Given the description of an element on the screen output the (x, y) to click on. 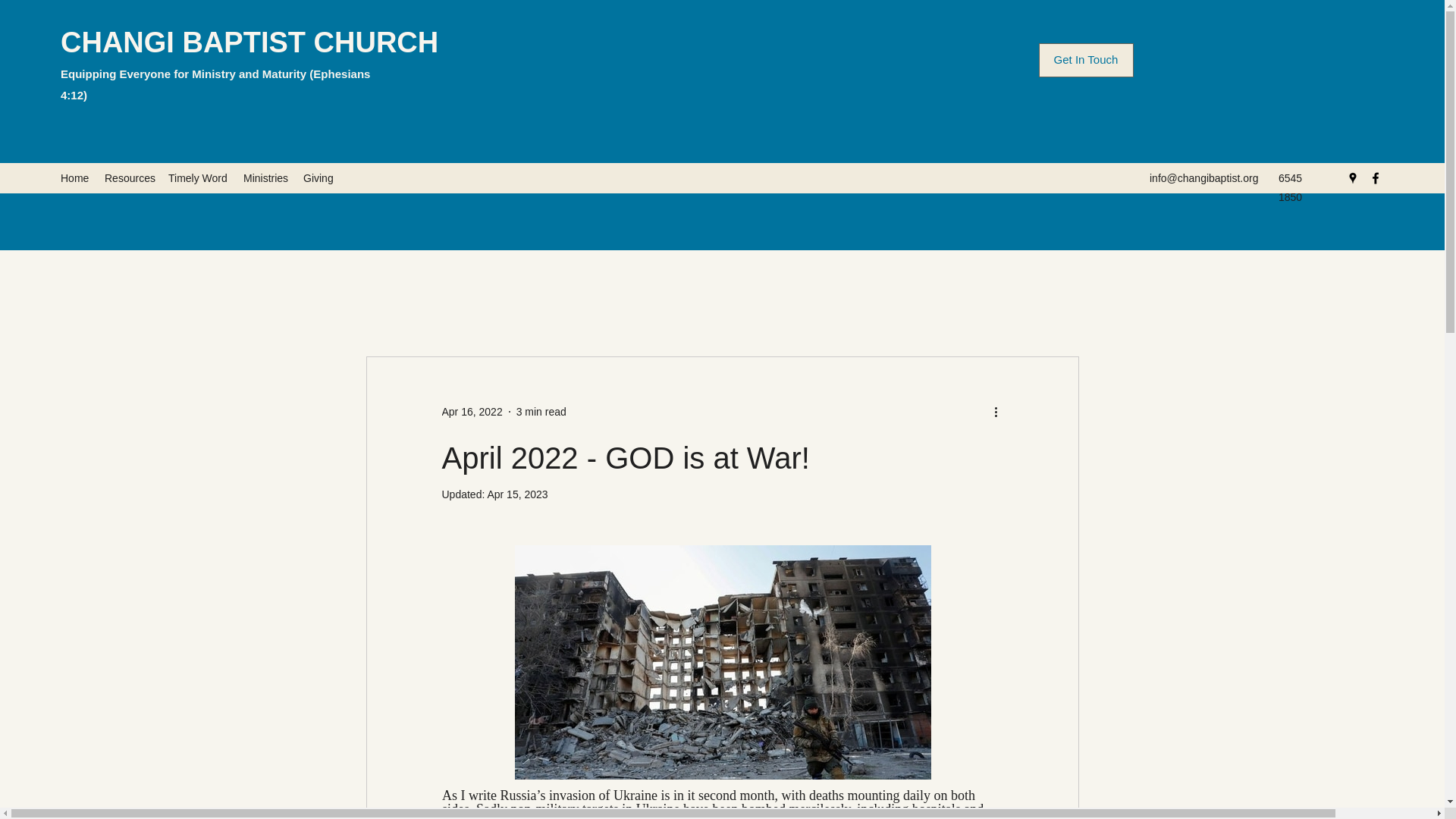
Apr 15, 2023 (516, 494)
Home (74, 178)
3 min read (541, 411)
Timely Word (197, 178)
Ministries (265, 178)
CHANGI BAPTIST CHURCH (249, 42)
Giving (317, 178)
Resources (128, 178)
Get In Touch (1086, 59)
Apr 16, 2022 (471, 411)
